Given the description of an element on the screen output the (x, y) to click on. 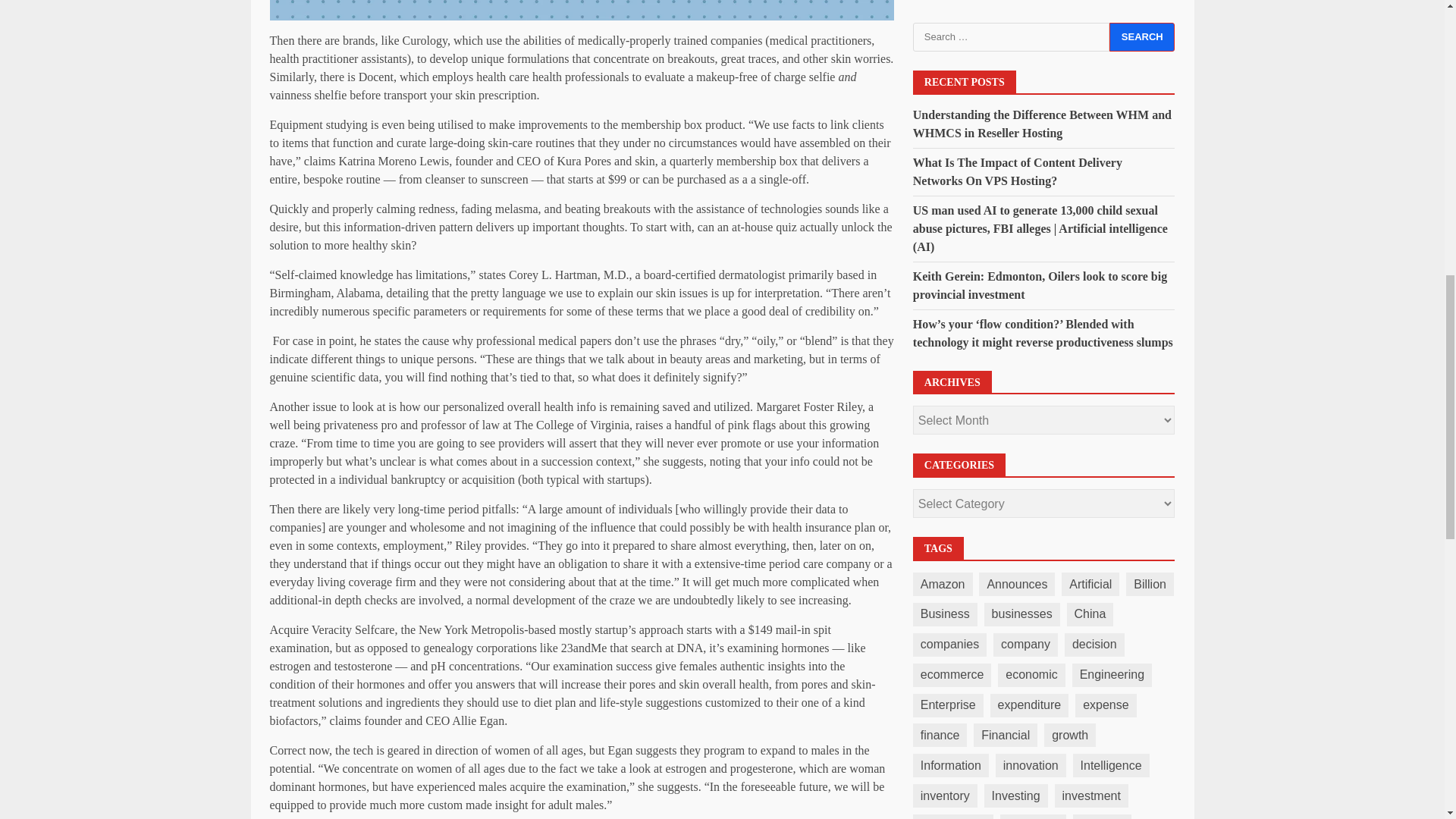
Veracity Selfcare (352, 629)
Margaret Foster Riley (808, 406)
Kura Pores and skin (604, 160)
Corey L. Hartman (552, 274)
Docent (375, 76)
Curology (424, 40)
